Given the description of an element on the screen output the (x, y) to click on. 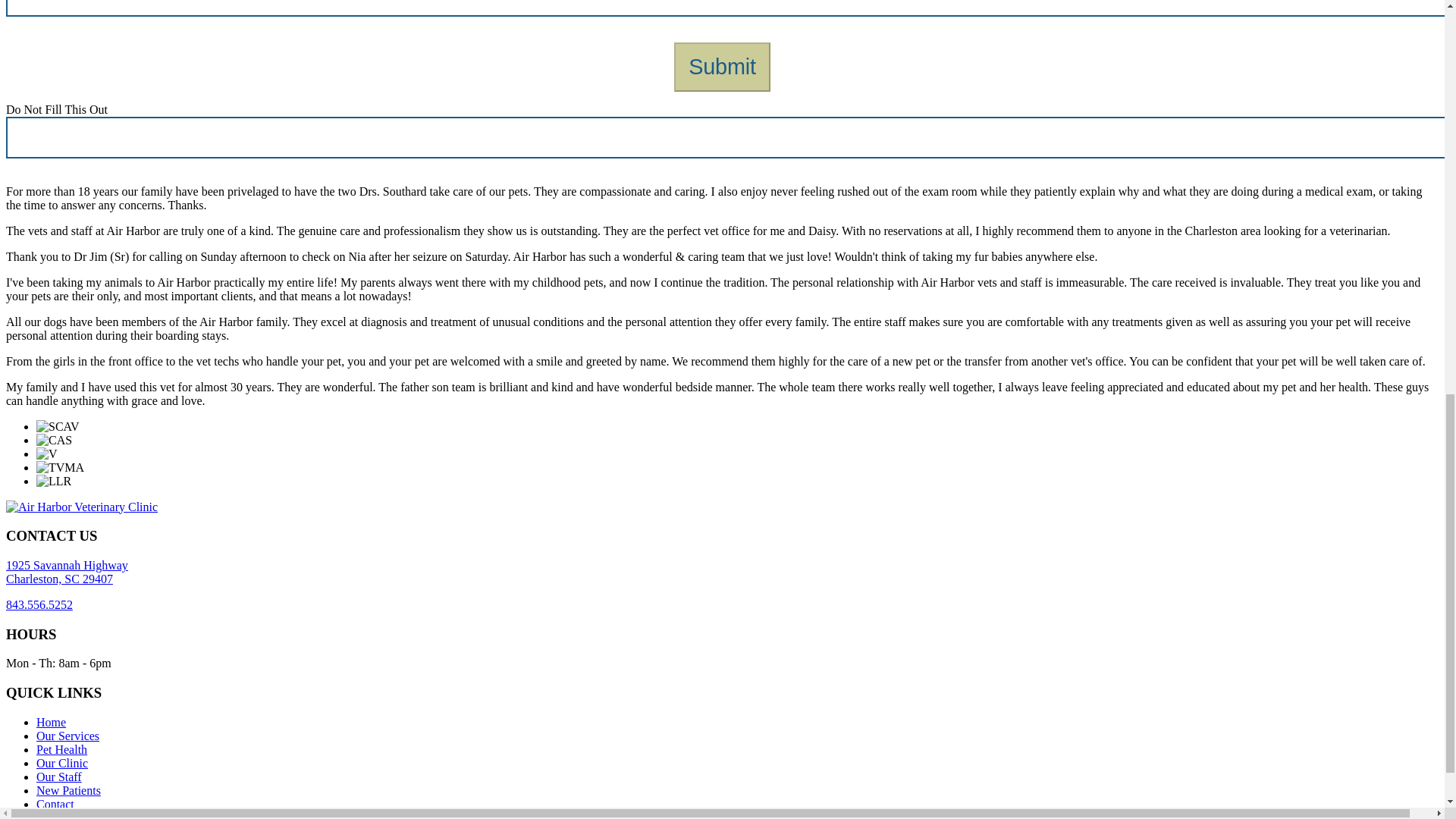
Submit (722, 66)
Our Clinic (66, 571)
Our Staff (61, 762)
843.556.5252 (58, 776)
Submit (38, 604)
Our Services (722, 66)
Contact (67, 735)
New Patients (55, 803)
Pet Health (68, 789)
Home (61, 748)
